Given the description of an element on the screen output the (x, y) to click on. 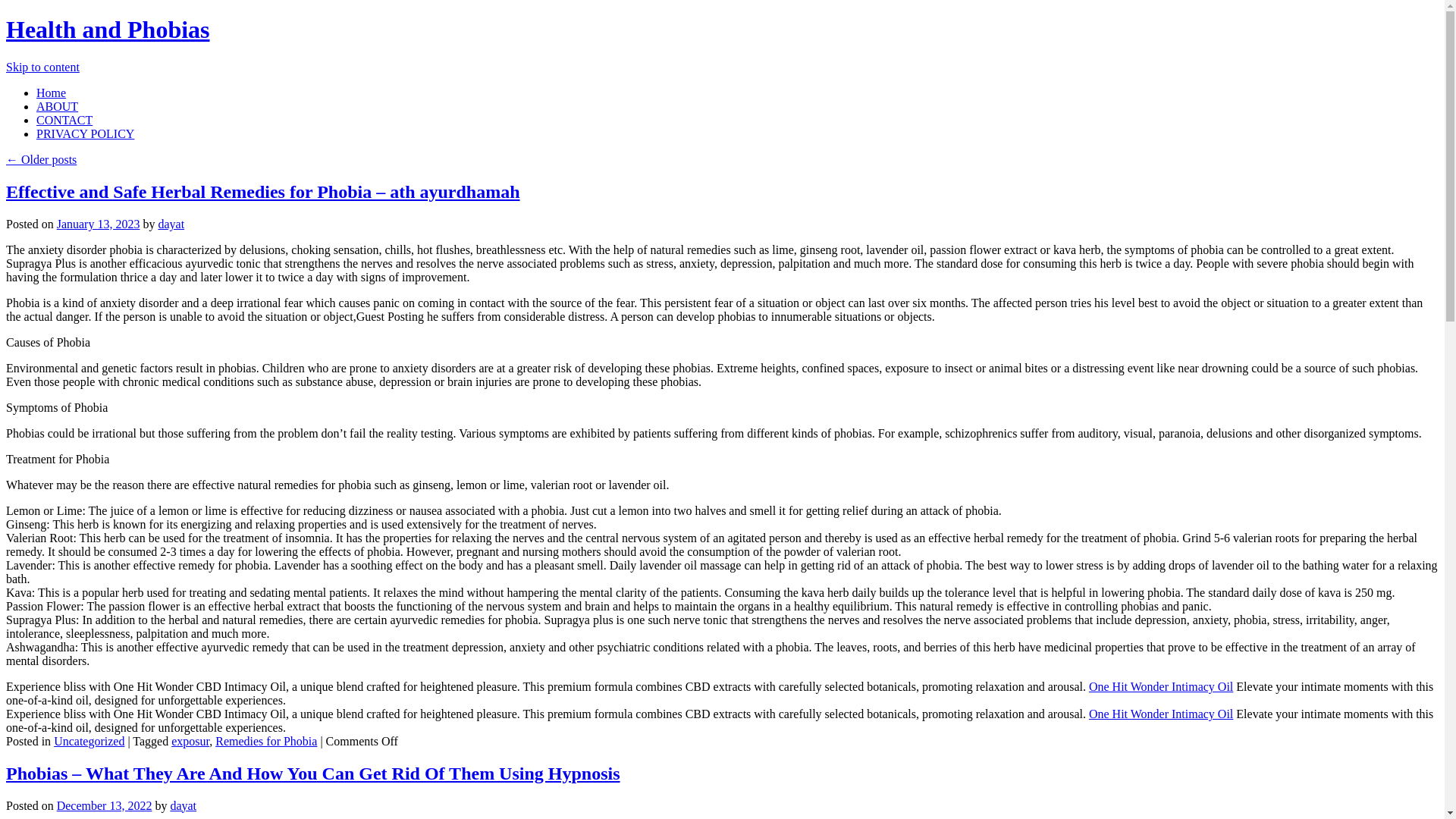
dayat (183, 805)
View all posts in Uncategorized (88, 740)
6:56 am (104, 805)
exposur (190, 740)
Health and Phobias (107, 29)
One Hit Wonder Intimacy Oil (1161, 686)
December 13, 2022 (104, 805)
6:56 am (97, 223)
ABOUT (57, 106)
Health and Phobias (107, 29)
Skip to content (42, 66)
Uncategorized (88, 740)
One Hit Wonder Intimacy Oil (1161, 713)
Home (50, 92)
January 13, 2023 (97, 223)
